Given the description of an element on the screen output the (x, y) to click on. 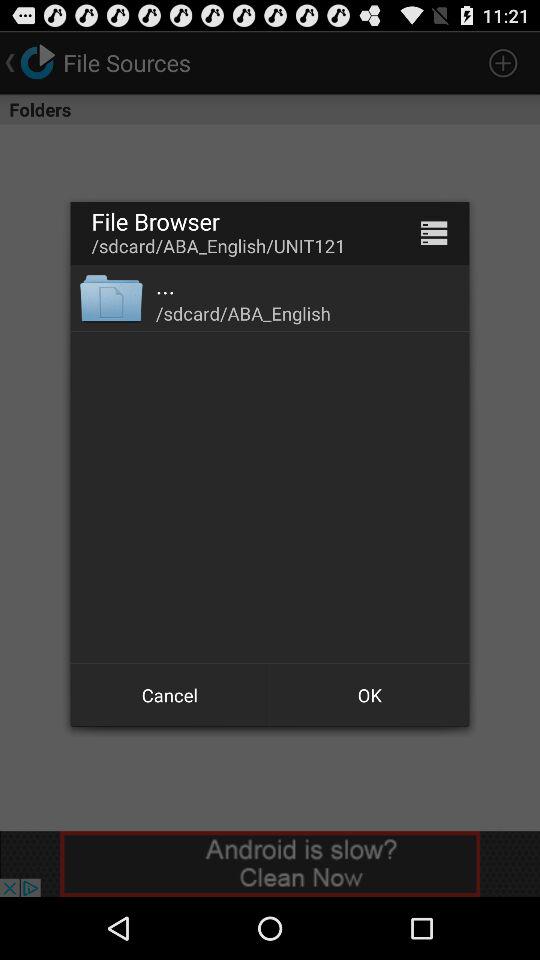
tap the button to the right of cancel button (369, 694)
